Given the description of an element on the screen output the (x, y) to click on. 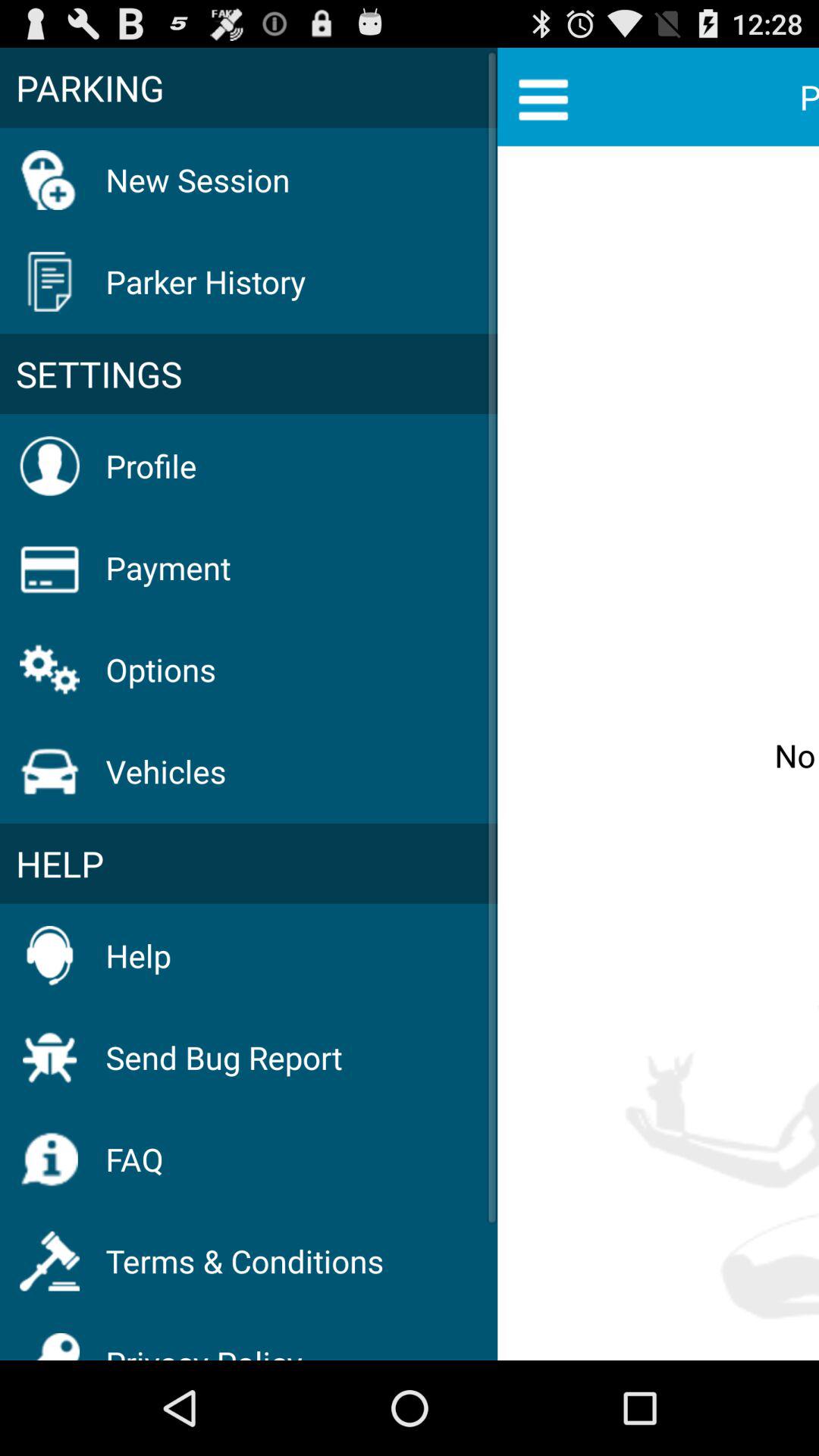
open the privacy policy icon (203, 1342)
